Given the description of an element on the screen output the (x, y) to click on. 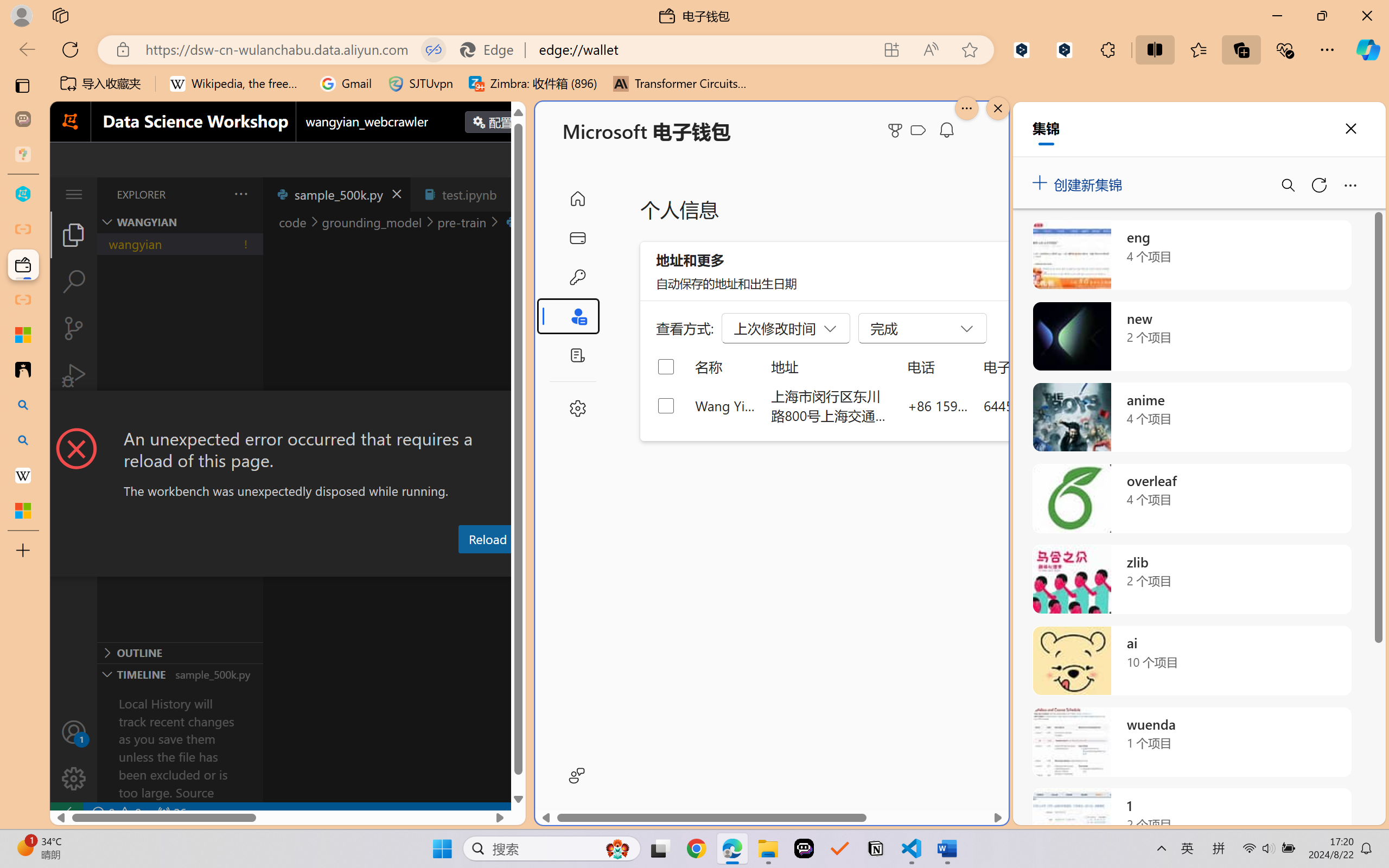
Outline Section (179, 652)
Class: actions-container (287, 410)
Extensions (Ctrl+Shift+X) (73, 422)
Class: ___1lmltc5 f1agt3bx f12qytpq (917, 130)
Copilot (Ctrl+Shift+.) (1368, 49)
